Given the description of an element on the screen output the (x, y) to click on. 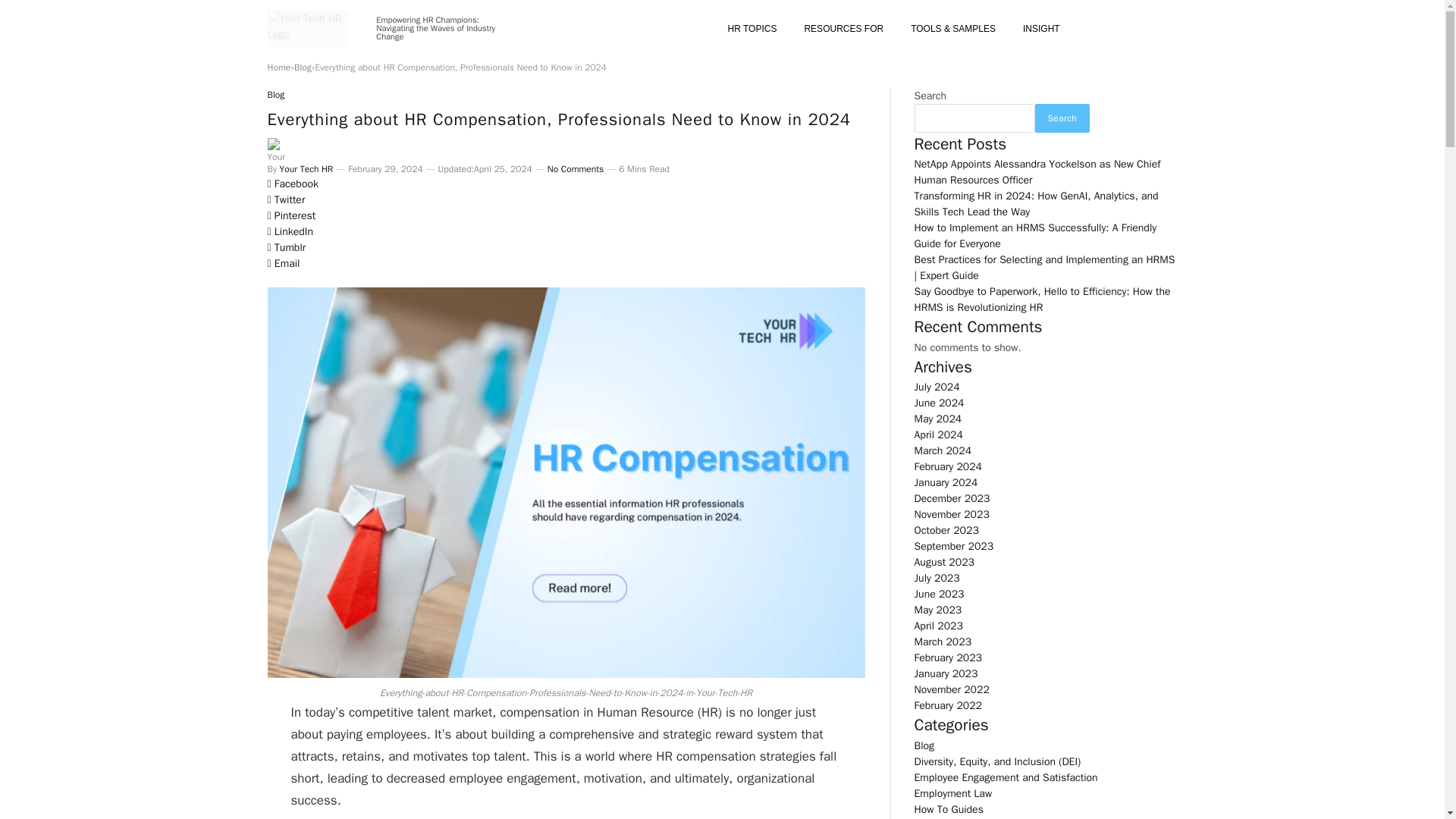
RESOURCES FOR (843, 28)
HR TOPICS (752, 28)
Posts by Your Tech HR (306, 168)
Share on Pinterest (565, 217)
Share via Email (565, 272)
Share on LinkedIn (565, 232)
INSIGHT (1041, 28)
Share on Tumblr (565, 248)
Share on Facebook (565, 185)
